Given the description of an element on the screen output the (x, y) to click on. 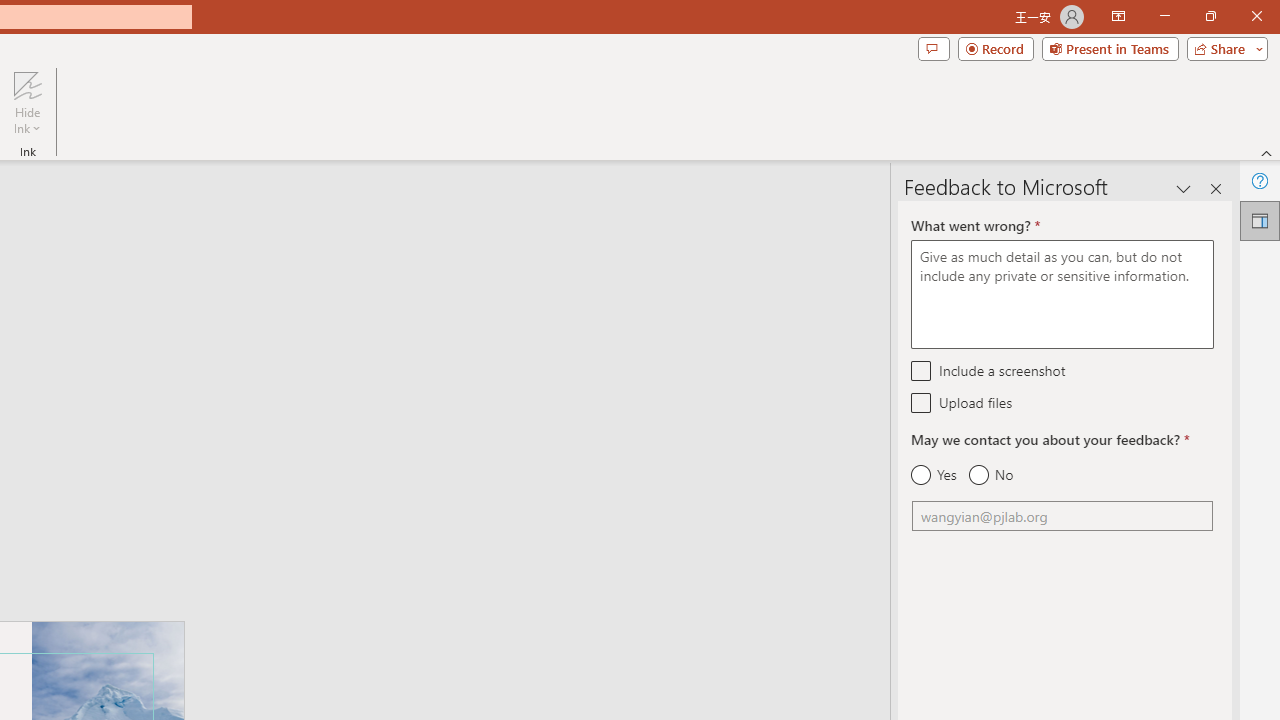
Minimize (1164, 16)
Restore Down (1210, 16)
Email (1062, 516)
Hide Ink (27, 84)
Comments (933, 48)
Feedback to Microsoft (1260, 220)
Close pane (1215, 188)
Help (1260, 180)
